Given the description of an element on the screen output the (x, y) to click on. 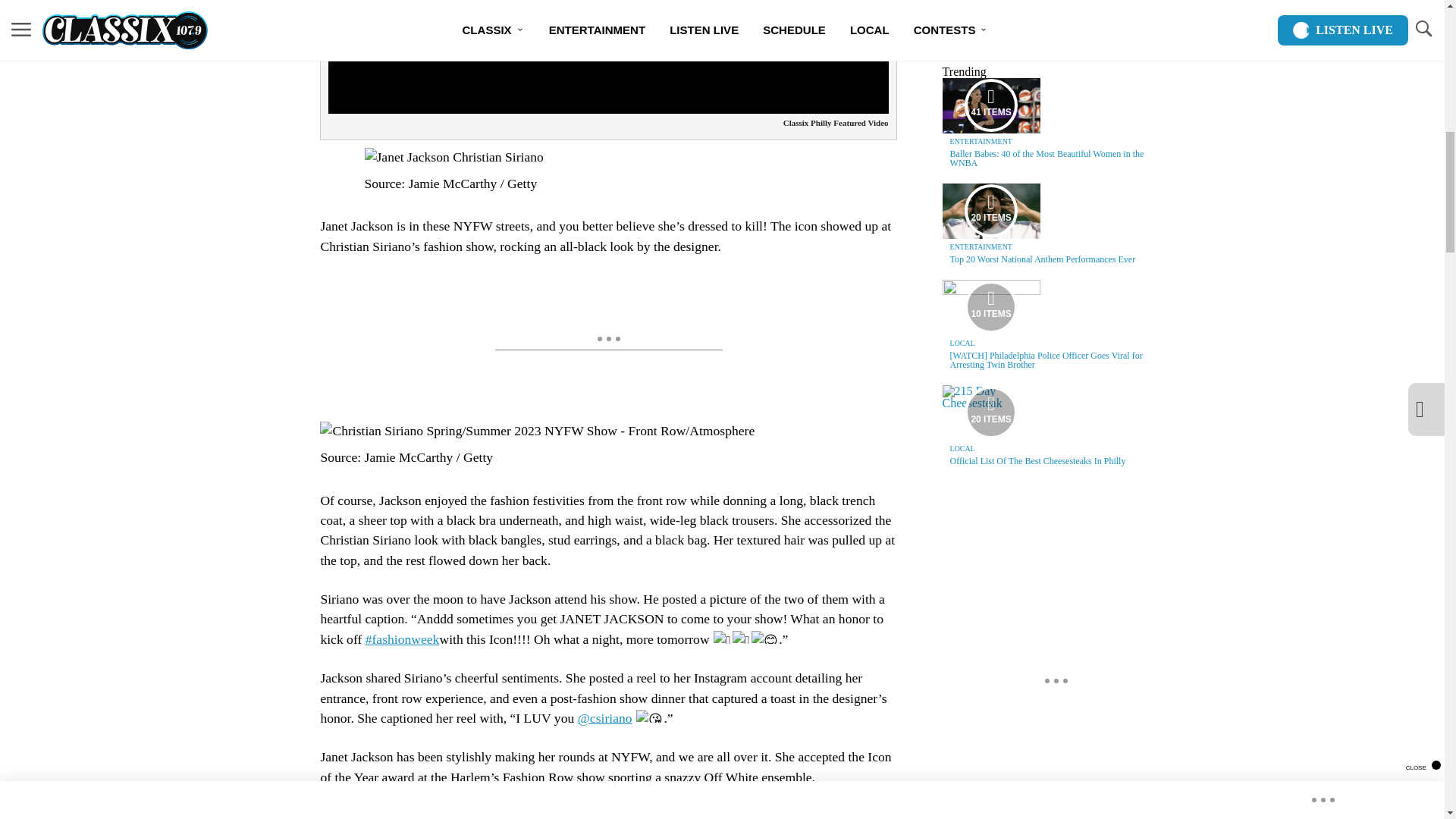
Media Playlist (990, 306)
ENTERTAINMENT (980, 141)
20 ITEMS (991, 211)
Media Playlist (990, 104)
Baller Babes: 40 of the Most Beautiful Women in the WNBA (1047, 158)
Media Playlist (990, 411)
41 ITEMS (991, 105)
Media Playlist (990, 210)
